Given the description of an element on the screen output the (x, y) to click on. 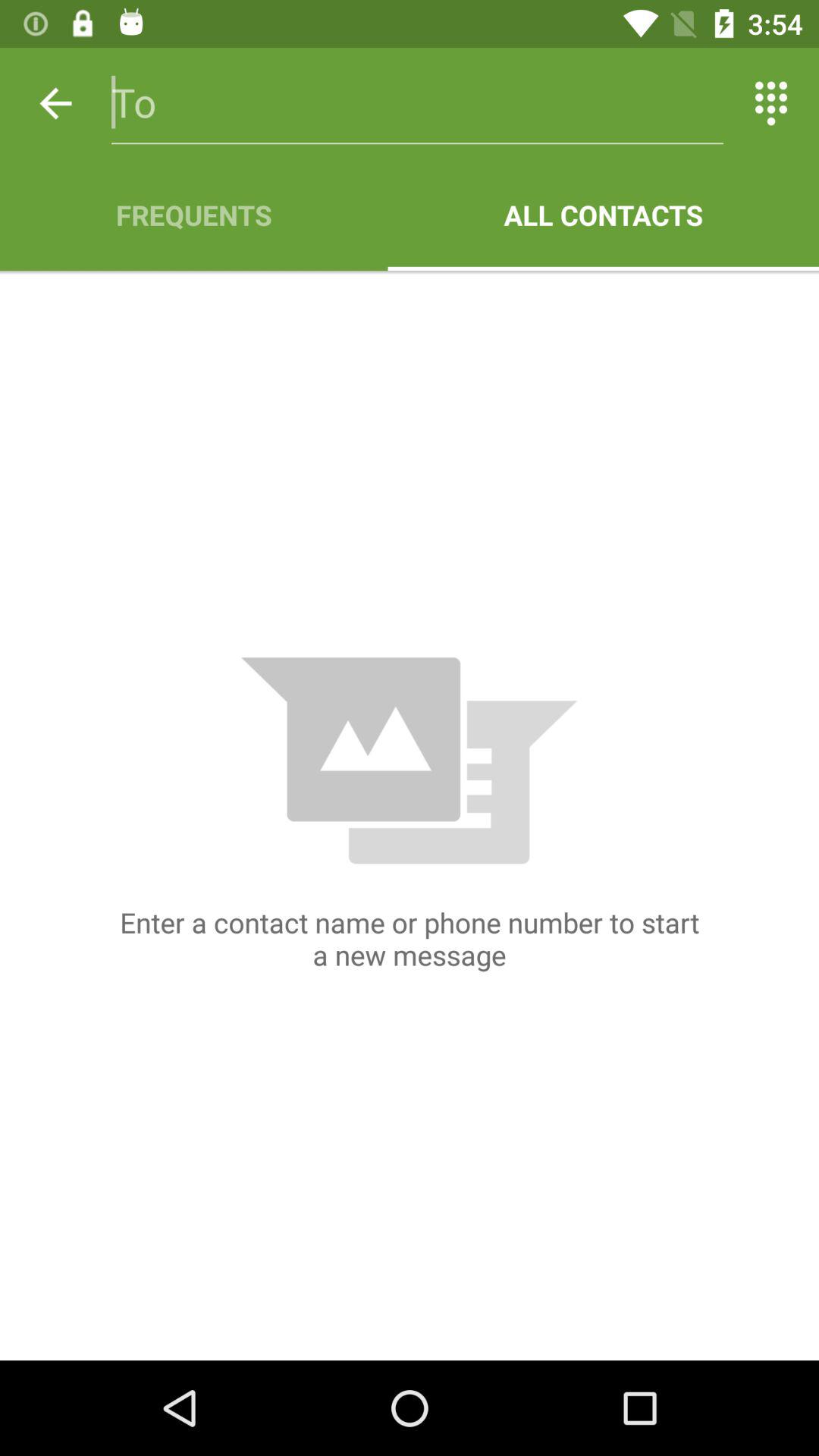
turn on all contacts (603, 214)
